Given the description of an element on the screen output the (x, y) to click on. 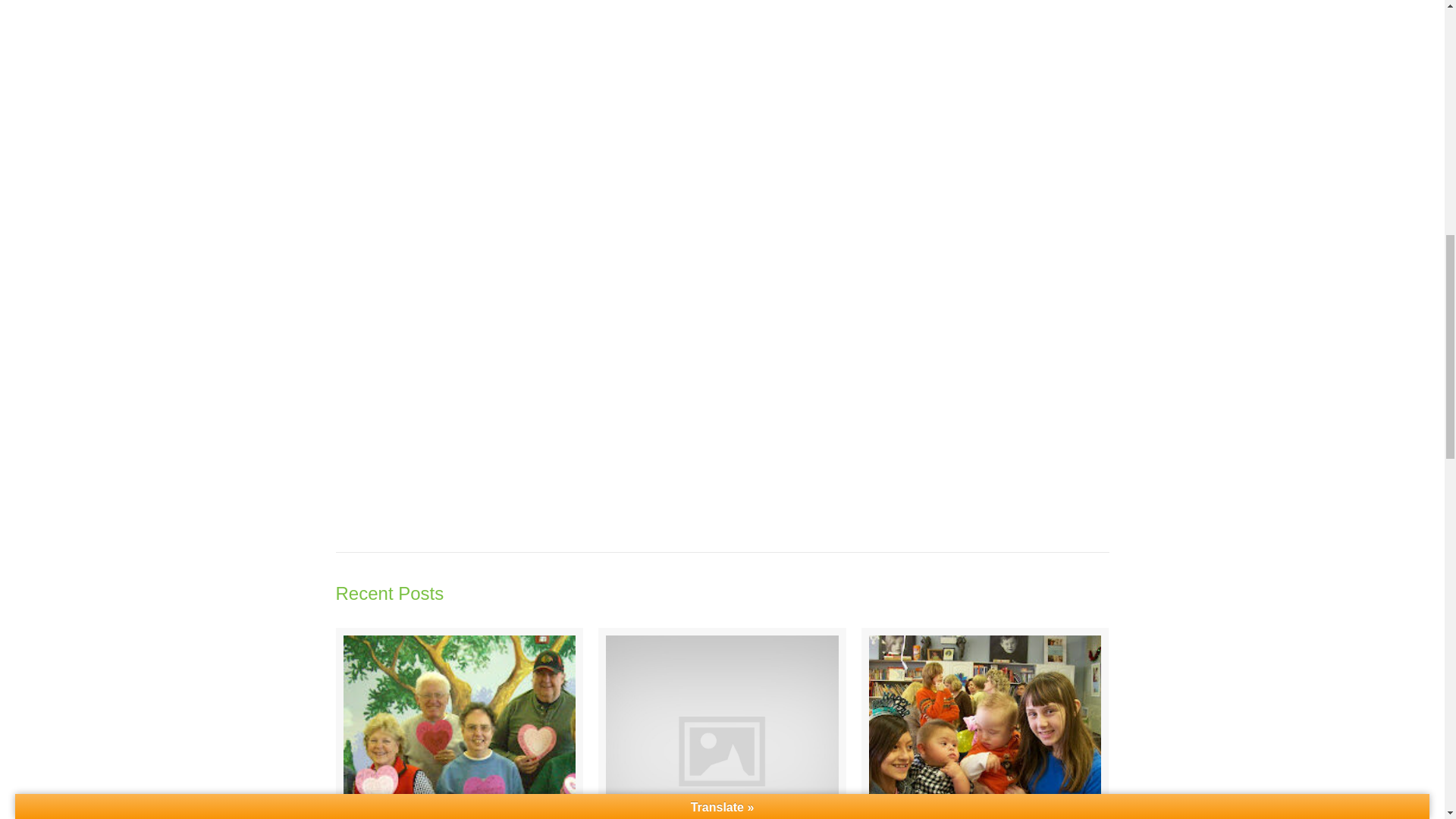
Thank You, Troop 399! (985, 723)
Valentines for our Volunteers! (458, 723)
Family Fun Night (721, 723)
